Given the description of an element on the screen output the (x, y) to click on. 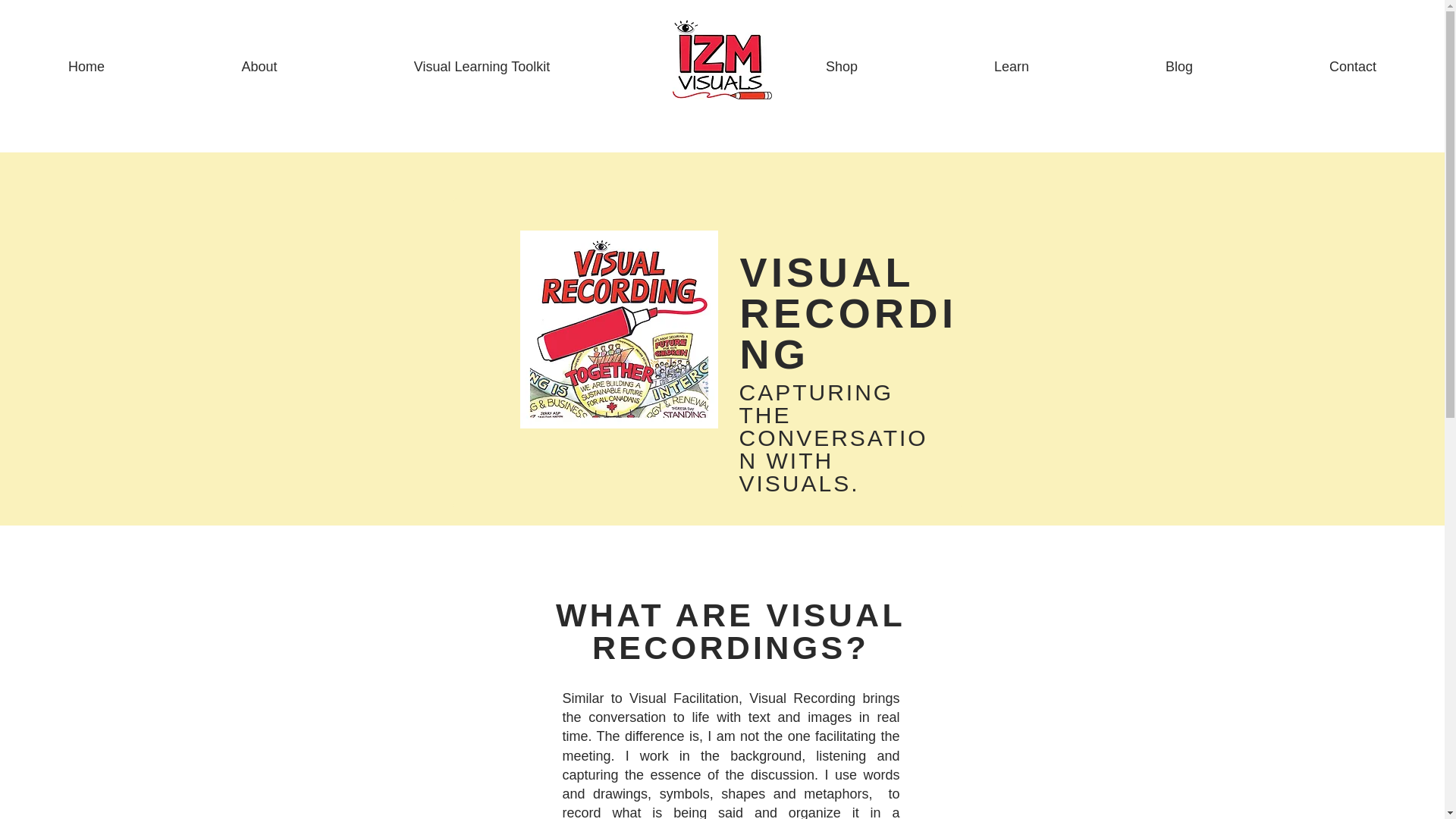
Blog (1178, 59)
' (687, 59)
About (259, 59)
Home (86, 59)
Shop (841, 59)
Learn (1011, 59)
Visual Learning Toolkit (481, 59)
